Given the description of an element on the screen output the (x, y) to click on. 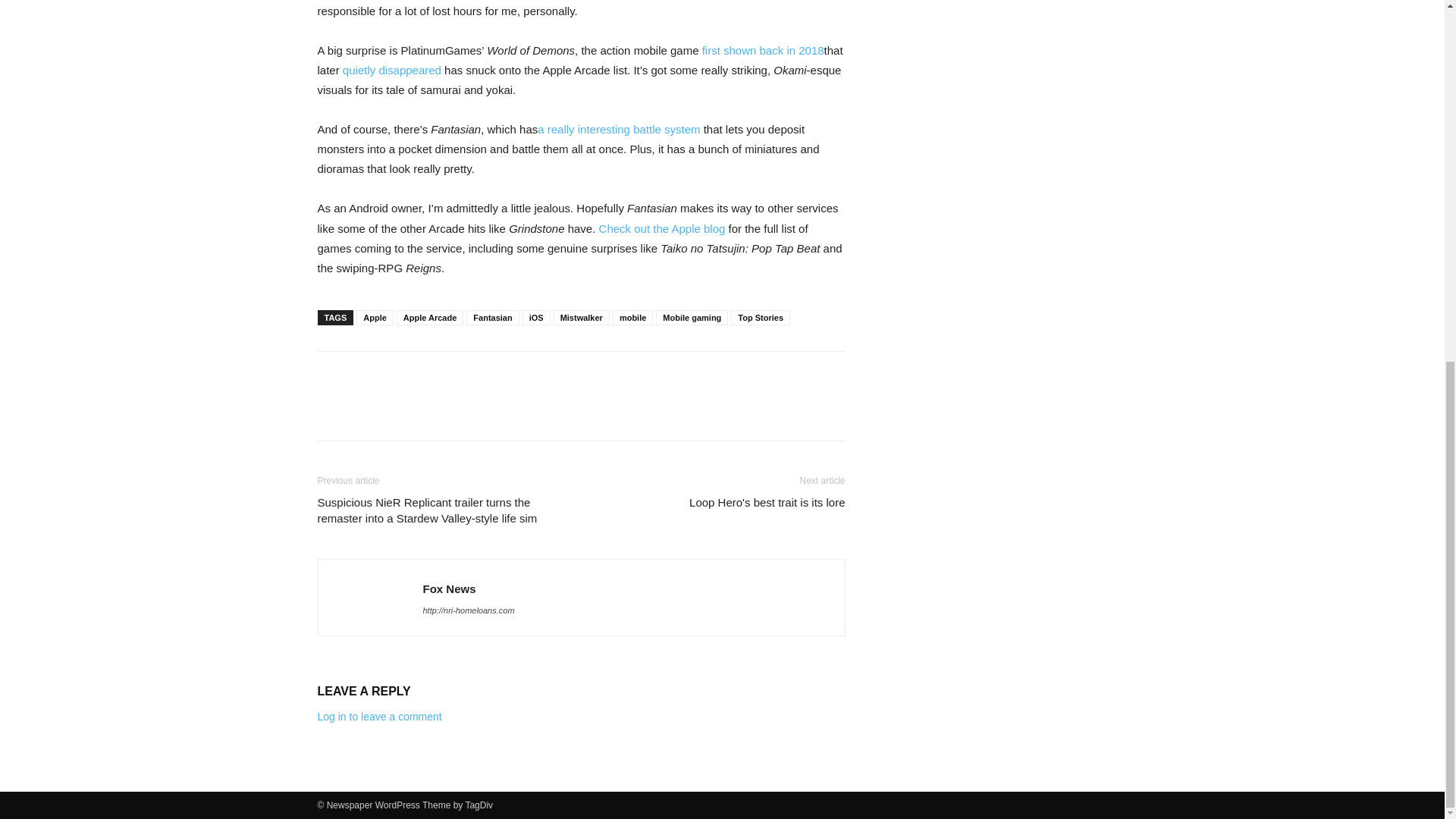
mobile (632, 317)
Apple Arcade (430, 317)
quietly disappeared (391, 69)
bottomFacebookLike (430, 375)
first shown back in 2018 (762, 50)
Check out the Apple blog (661, 227)
Mobile gaming (692, 317)
a really interesting battle system (618, 128)
Fantasian (491, 317)
Apple (374, 317)
